Given the description of an element on the screen output the (x, y) to click on. 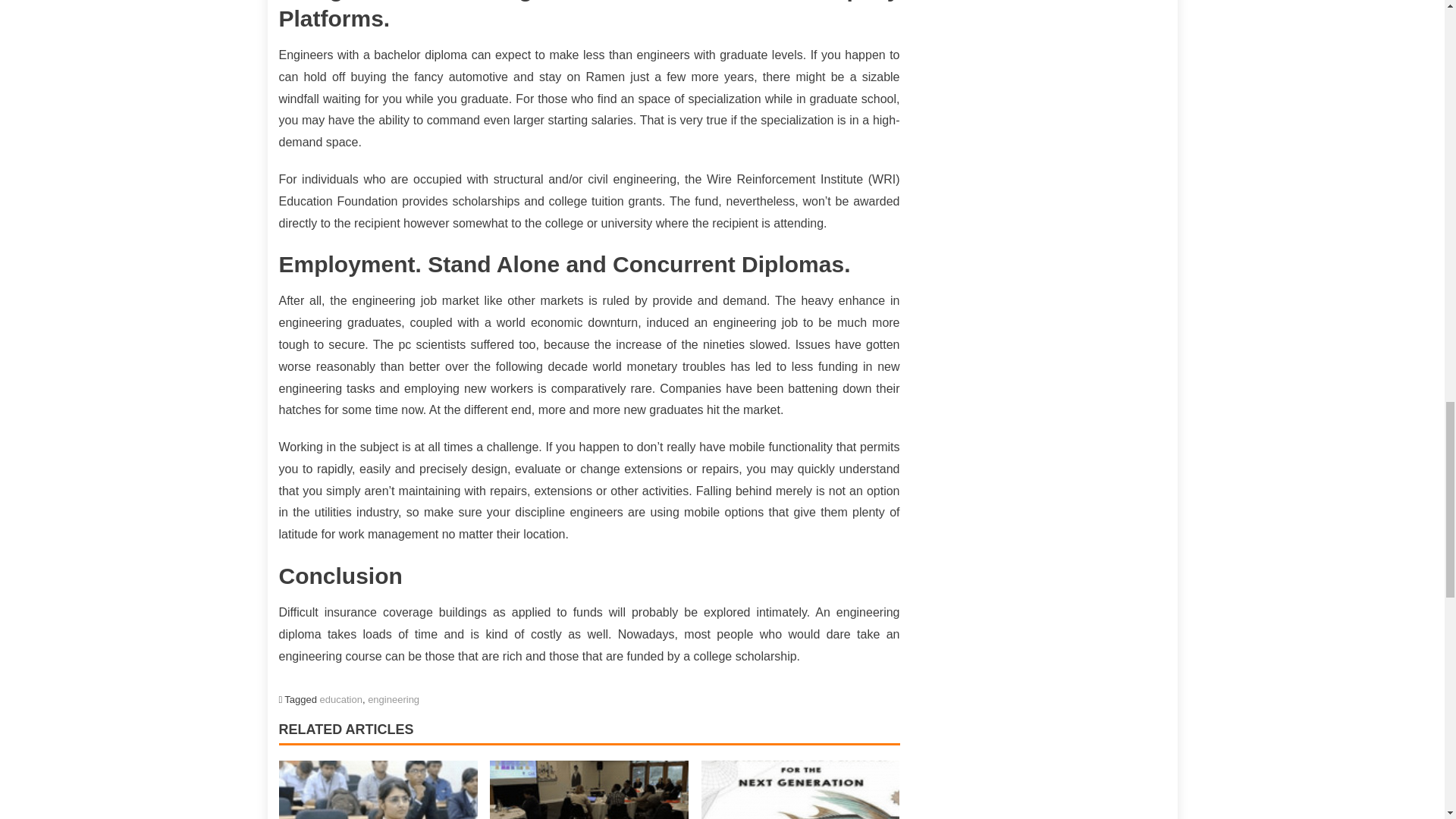
education (341, 699)
engineering (393, 699)
An Unbiased View of Story Of Engineering Education (378, 789)
